Given the description of an element on the screen output the (x, y) to click on. 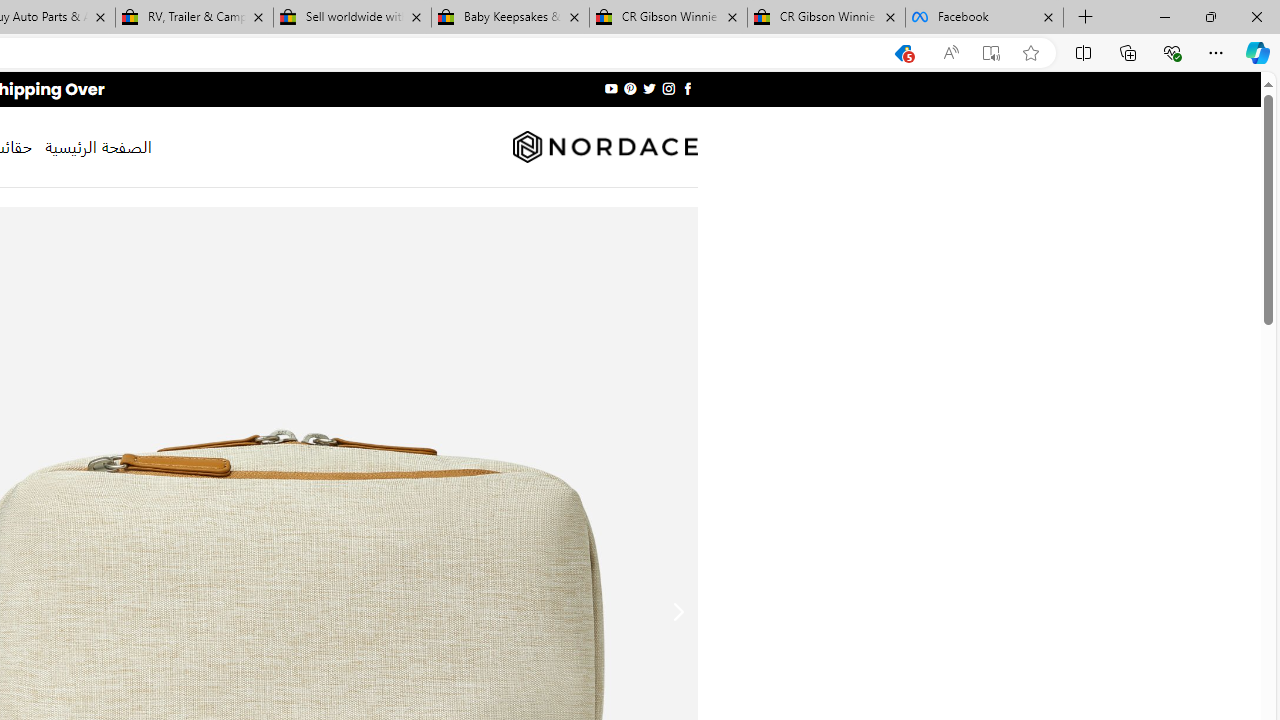
Nordace (604, 147)
Collections (1128, 52)
Close tab (1048, 16)
Follow on YouTube (611, 88)
Follow on Facebook (686, 88)
Follow on Instagram (667, 88)
You have the best price! (902, 53)
Browser essentials (1171, 52)
Enter Immersive Reader (F9) (991, 53)
Read aloud this page (Ctrl+Shift+U) (950, 53)
Add this page to favorites (Ctrl+D) (1030, 53)
Baby Keepsakes & Announcements for sale | eBay (509, 17)
Close (1256, 16)
Facebook (984, 17)
